Given the description of an element on the screen output the (x, y) to click on. 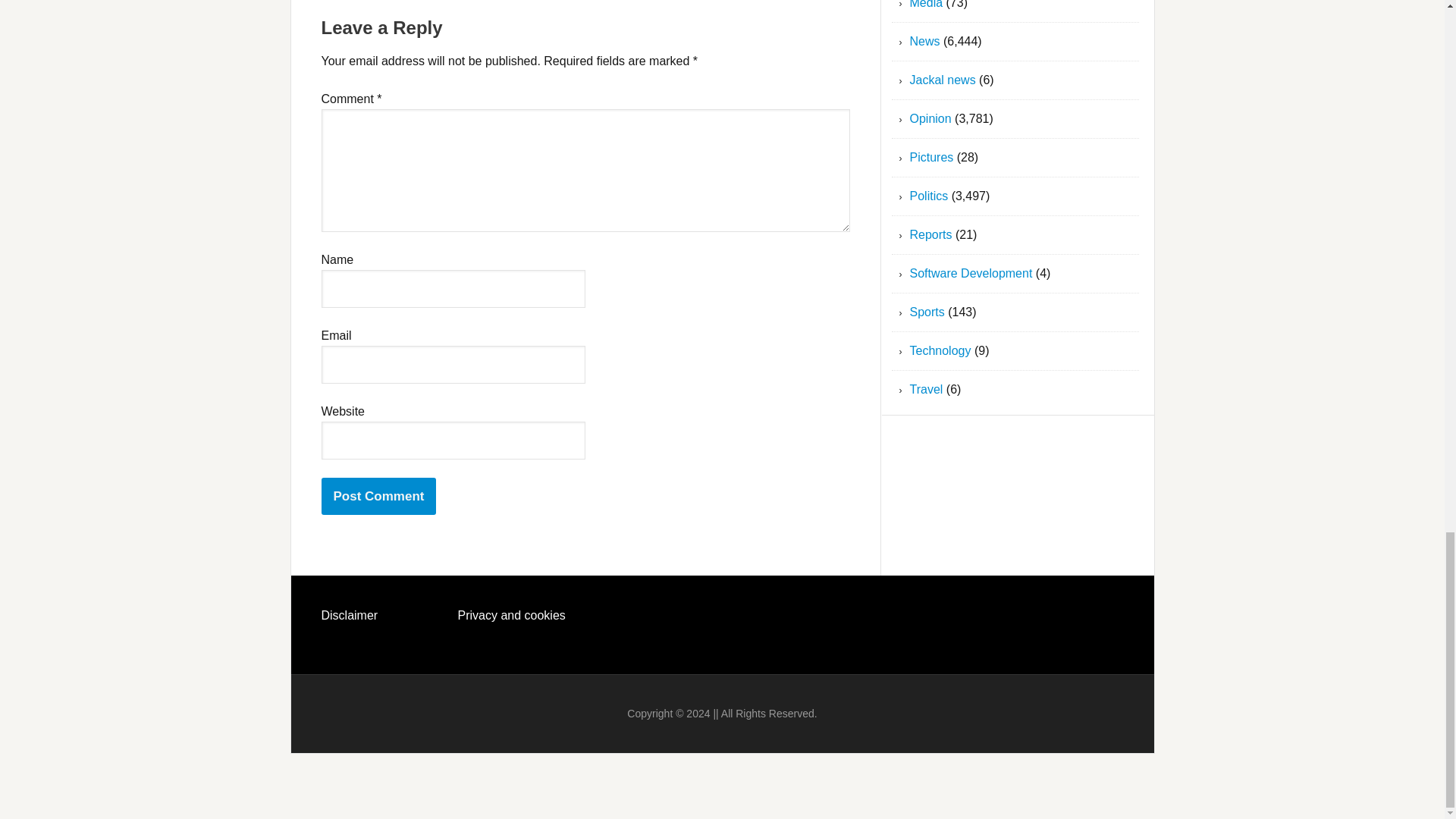
Jackal news (942, 79)
News (925, 41)
Politics (929, 195)
Post Comment (378, 496)
Opinion (931, 118)
Pictures (931, 156)
Post Comment (378, 496)
Media (926, 4)
